Given the description of an element on the screen output the (x, y) to click on. 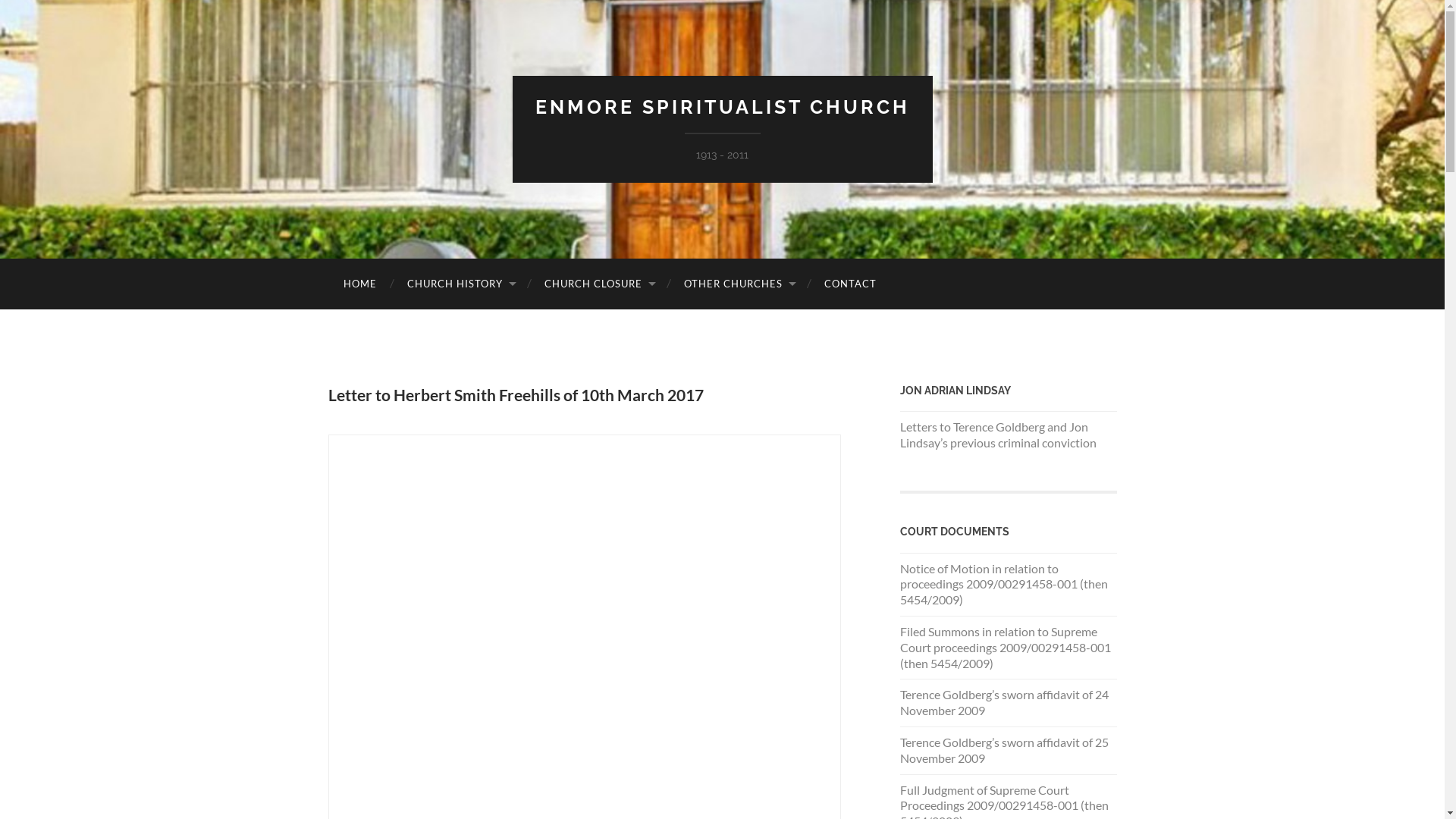
OTHER CHURCHES Element type: text (738, 282)
CHURCH CLOSURE Element type: text (598, 282)
ENMORE SPIRITUALIST CHURCH Element type: text (722, 107)
HOME Element type: text (359, 282)
CHURCH HISTORY Element type: text (459, 282)
CONTACT Element type: text (849, 282)
